Given the description of an element on the screen output the (x, y) to click on. 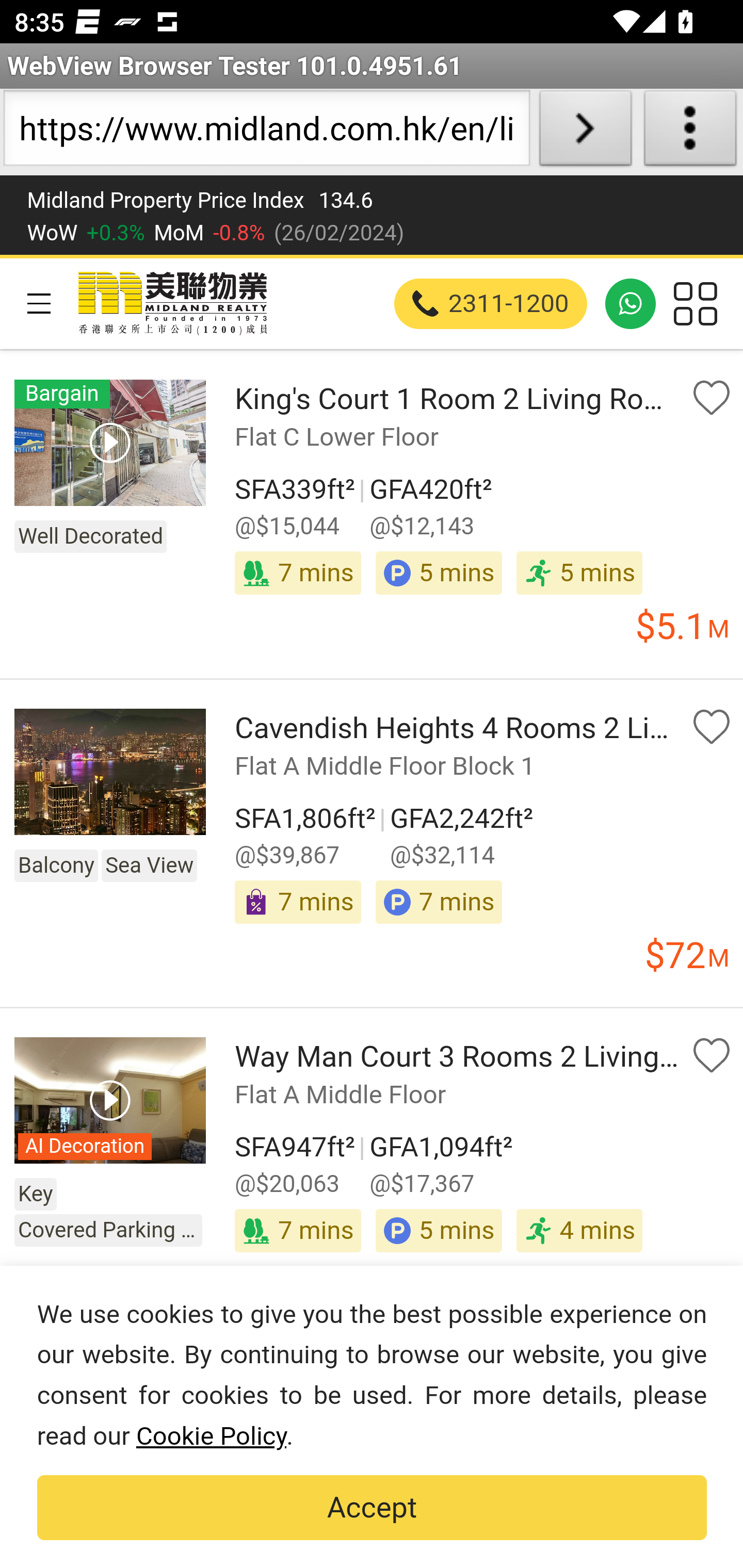
Load URL (585, 132)
About WebView (690, 132)
Midland Realty - Property Agency in Hong Kong (171, 303)
2311-1200 (490, 303)
WhatsApp: 2311-1200 (630, 303)
Cookie Policy (210, 1436)
Accept (372, 1508)
